Given the description of an element on the screen output the (x, y) to click on. 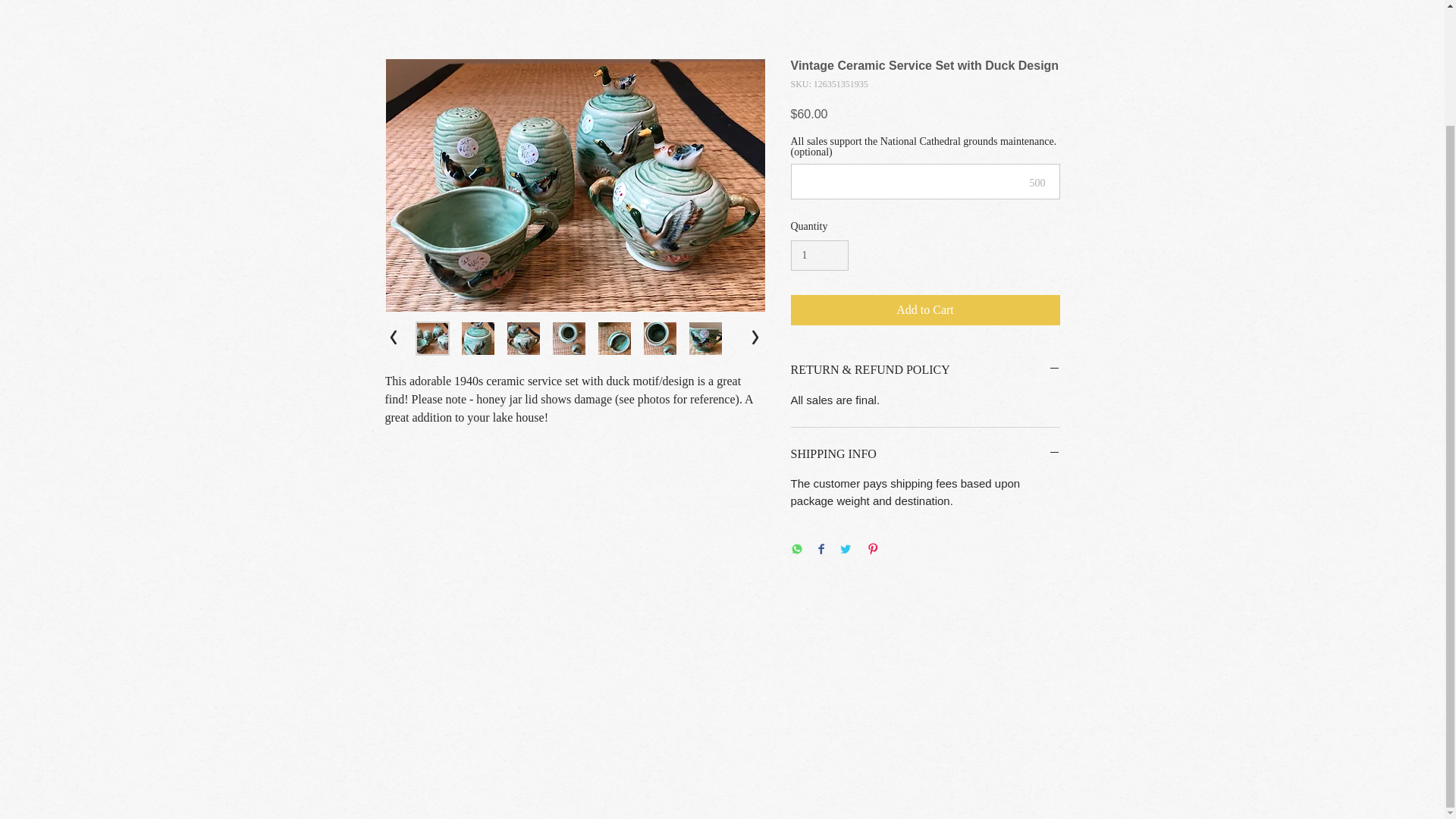
SHIPPING INFO (924, 453)
1 (818, 255)
Add to Cart (924, 309)
